Given the description of an element on the screen output the (x, y) to click on. 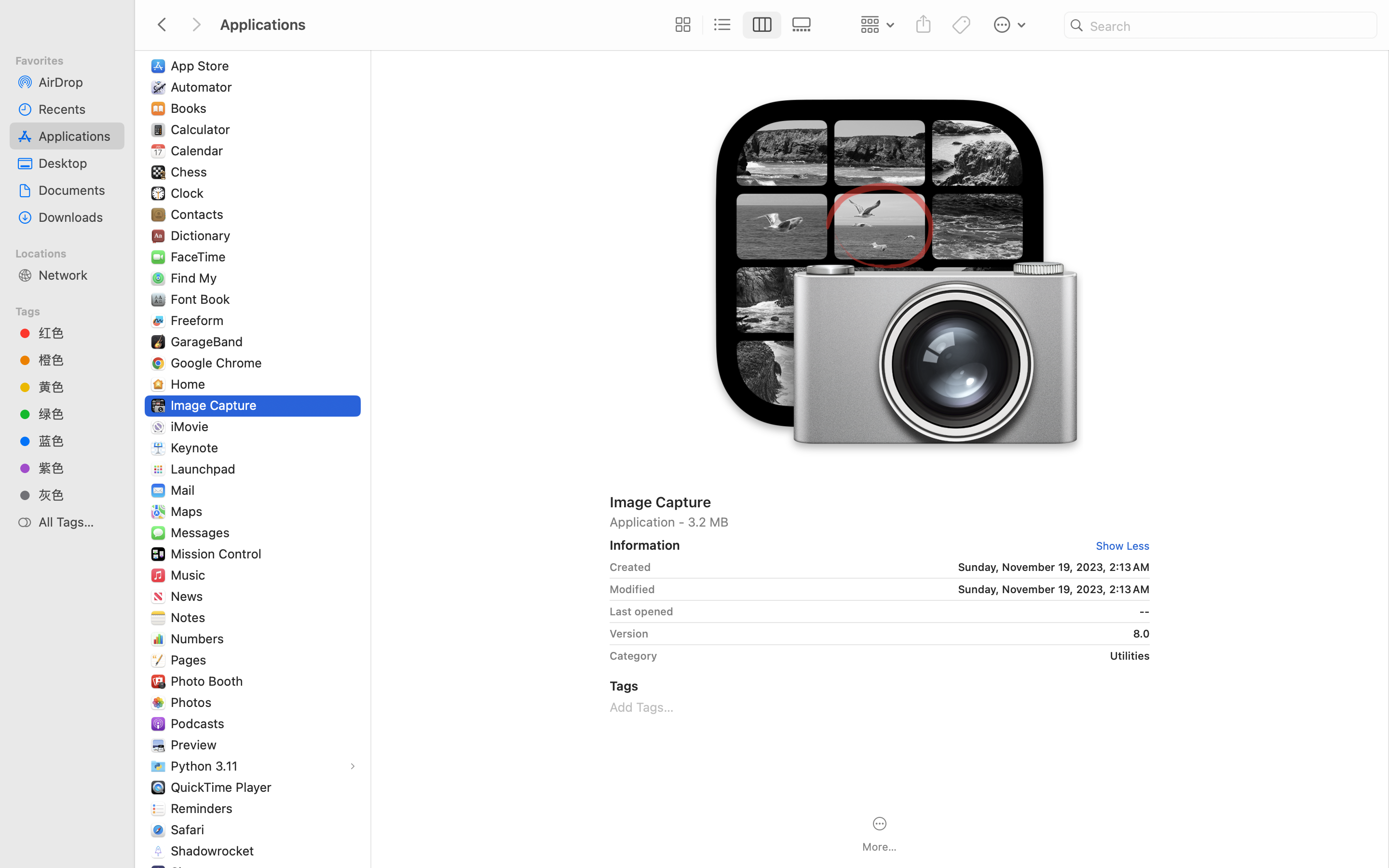
<AXUIElement 0x11d32f570> {pid=510} Element type: AXRadioGroup (741, 24)
GarageBand Element type: AXTextField (208, 341)
Keynote Element type: AXTextField (196, 447)
绿色 Element type: AXStaticText (77, 413)
Favorites Element type: AXStaticText (72, 59)
